Given the description of an element on the screen output the (x, y) to click on. 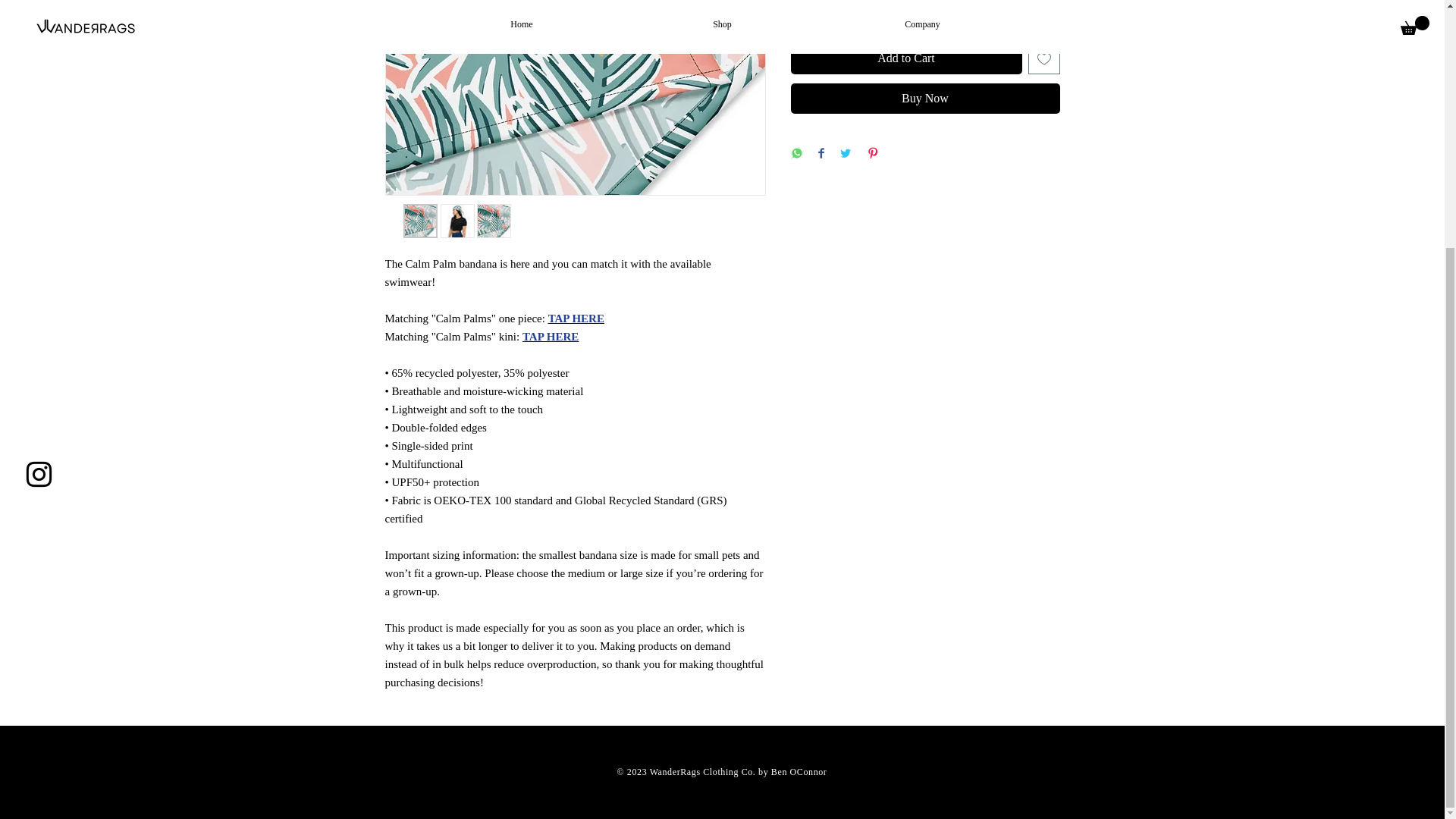
Add to Cart (906, 58)
Buy Now (924, 98)
TAP HERE (550, 336)
TAP HERE (576, 318)
1 (818, 9)
